Given the description of an element on the screen output the (x, y) to click on. 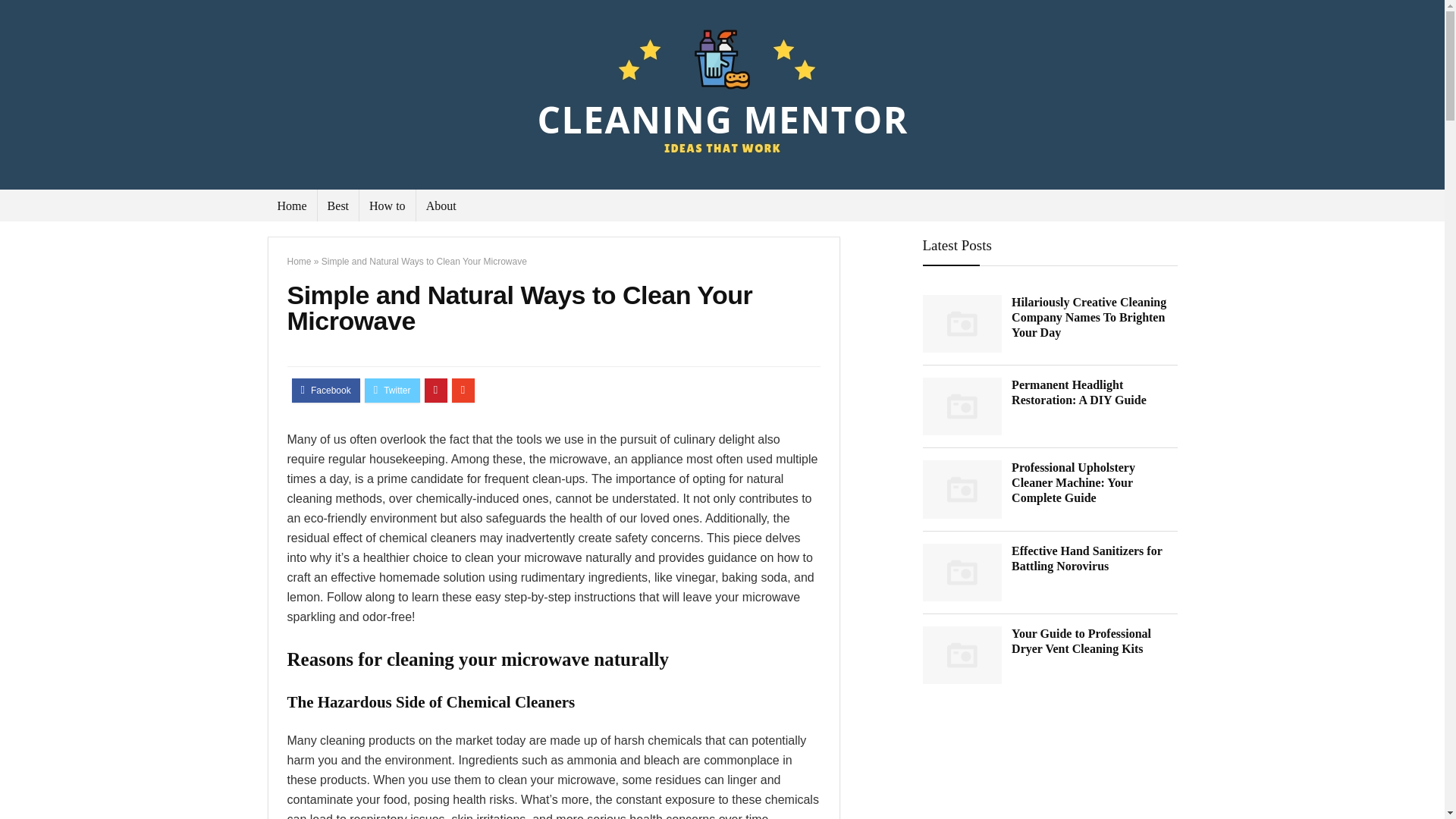
Effective Hand Sanitizers for Battling Norovirus (1086, 558)
Best (337, 205)
Permanent Headlight Restoration: A DIY Guide (1079, 392)
Home (290, 205)
Home (298, 261)
How to (386, 205)
Professional Upholstery Cleaner Machine: Your Complete Guide (1073, 482)
About (440, 205)
